Given the description of an element on the screen output the (x, y) to click on. 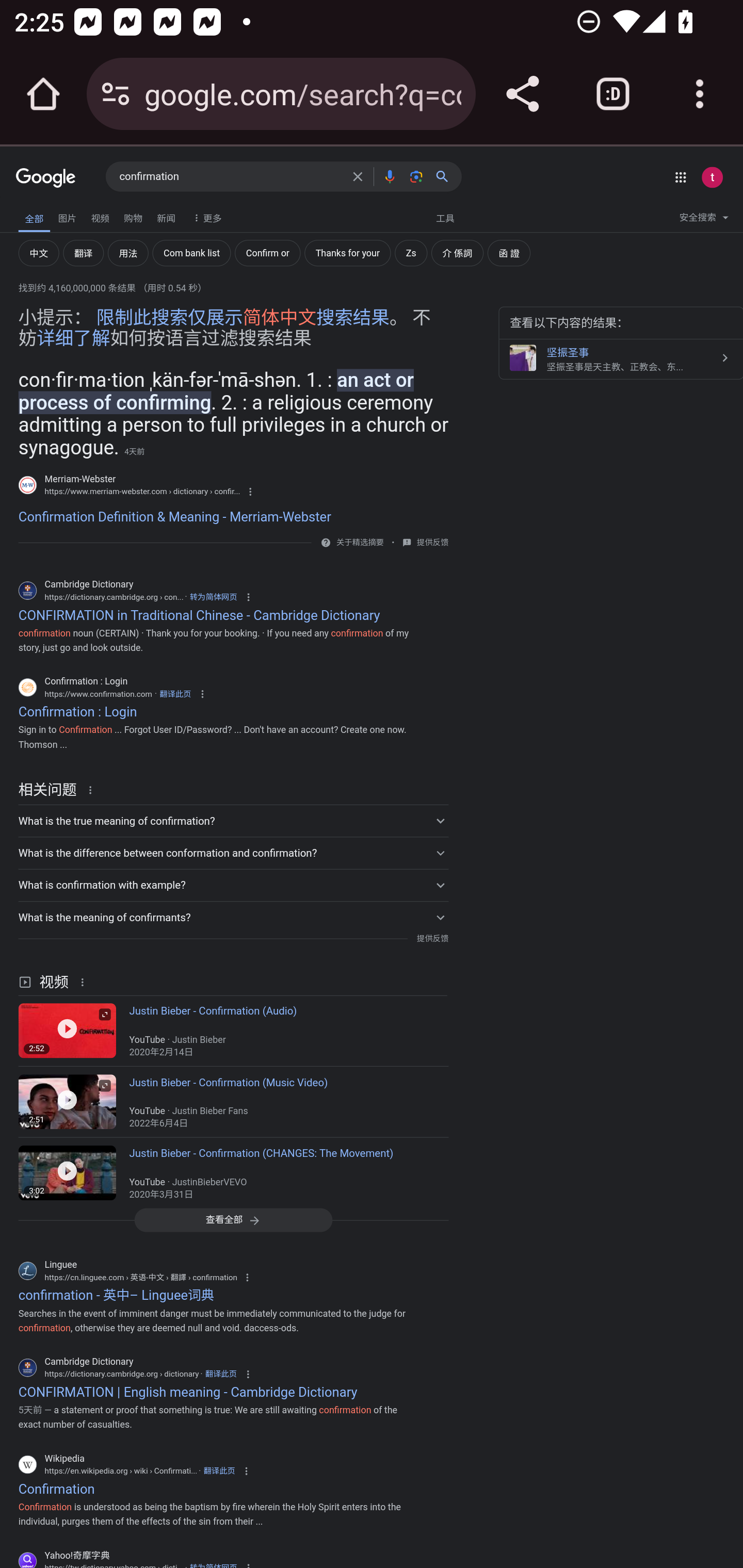
Open the home page (43, 93)
Connection is secure (115, 93)
Share (522, 93)
Switch or close tabs (612, 93)
Customize and control Google Chrome (699, 93)
清除 (357, 176)
按语音搜索 (389, 176)
按图搜索 (415, 176)
搜索 (446, 176)
Google 应用 (680, 176)
Google 账号： test appium (testappium002@gmail.com) (712, 176)
Google (45, 178)
confirmation (229, 177)
无障碍功能反馈 (42, 212)
图片 (67, 216)
视频 (99, 216)
购物 (133, 216)
新闻 (166, 216)
更多 (205, 216)
安全搜索 (703, 219)
工具 (444, 216)
添加“中文” 中文 (38, 252)
添加“翻译” 翻译 (83, 252)
添加“用法” 用法 (127, 252)
添加“Com bank list” Com bank list (191, 252)
添加“Confirm or” Confirm or (267, 252)
添加“Thanks for your” Thanks for your (346, 252)
添加“Zs” Zs (410, 252)
添加“介 係詞” 介 係詞 (456, 252)
添加“函 證” 函 證 (508, 252)
限制此搜索仅展示简体中文搜索结果 限制此搜索仅展示 简体中文 搜索结果 (242, 316)
详细了解 (73, 338)
关于精选摘要 (359, 542)
提供反馈 (432, 542)
转为简体网页 (212, 597)
翻译此页 (174, 692)
关于这条结果的详细信息 (93, 789)
What is the true meaning of confirmation? (232, 820)
What is confirmation with example? (232, 884)
What is the meaning of confirmants? (232, 916)
提供反馈 (432, 937)
关于这条结果的详细信息 (85, 980)
查看全部 (233, 1219)
翻译此页 (220, 1373)
翻译此页 (218, 1470)
